Given the description of an element on the screen output the (x, y) to click on. 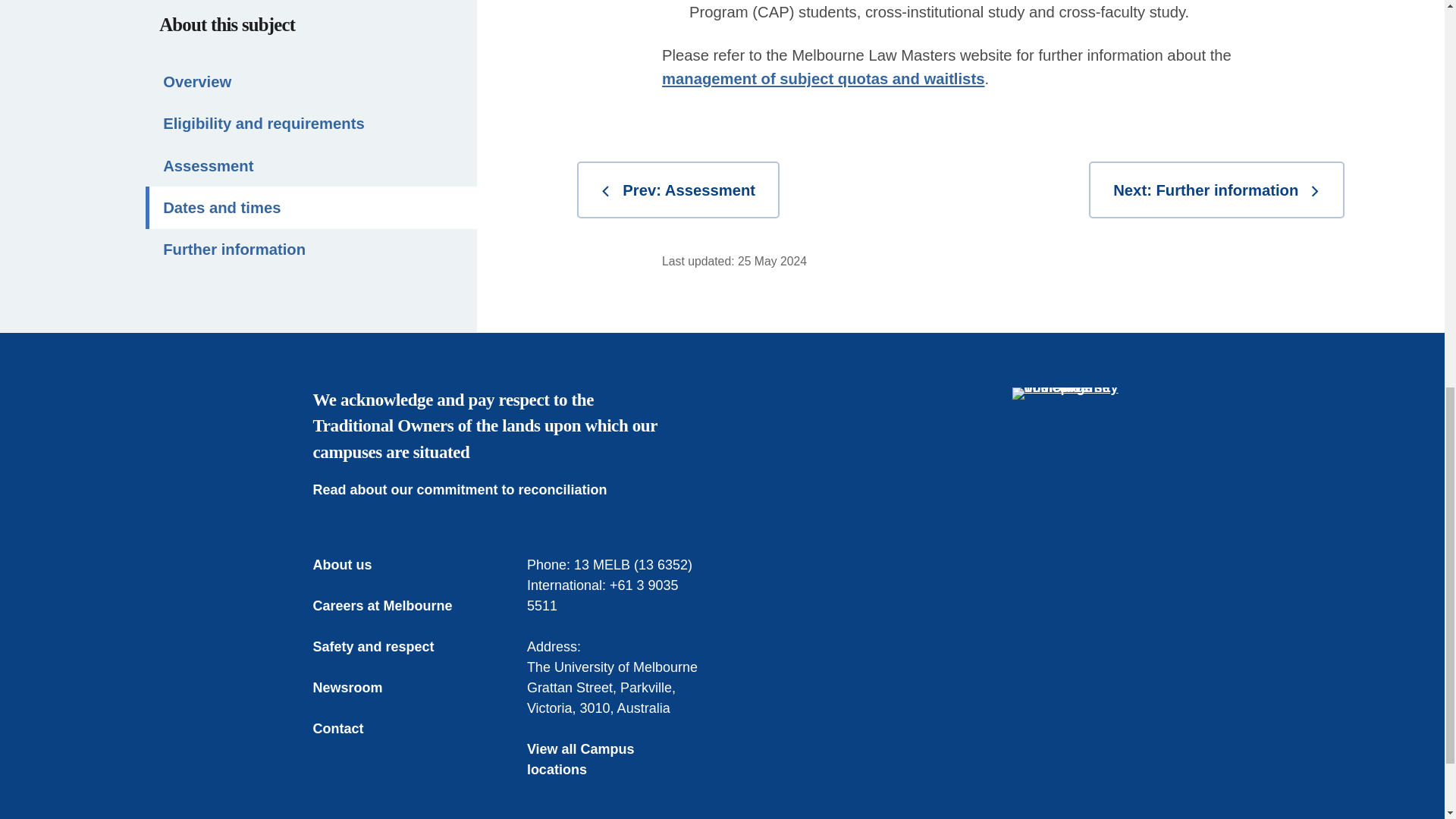
Read about our commitment to reconciliation (470, 489)
Instagram (1115, 542)
Twitter (1051, 542)
management of subject quotas and waitlists (823, 78)
Prev: Assessment (678, 189)
Next: Further information (1216, 189)
View all Campus locations (615, 759)
Facebook (1019, 542)
Safety and respect (384, 647)
LinkedIn (1083, 542)
Contact (349, 729)
Careers at Melbourne (393, 606)
About us (353, 565)
Newsroom (358, 688)
